Given the description of an element on the screen output the (x, y) to click on. 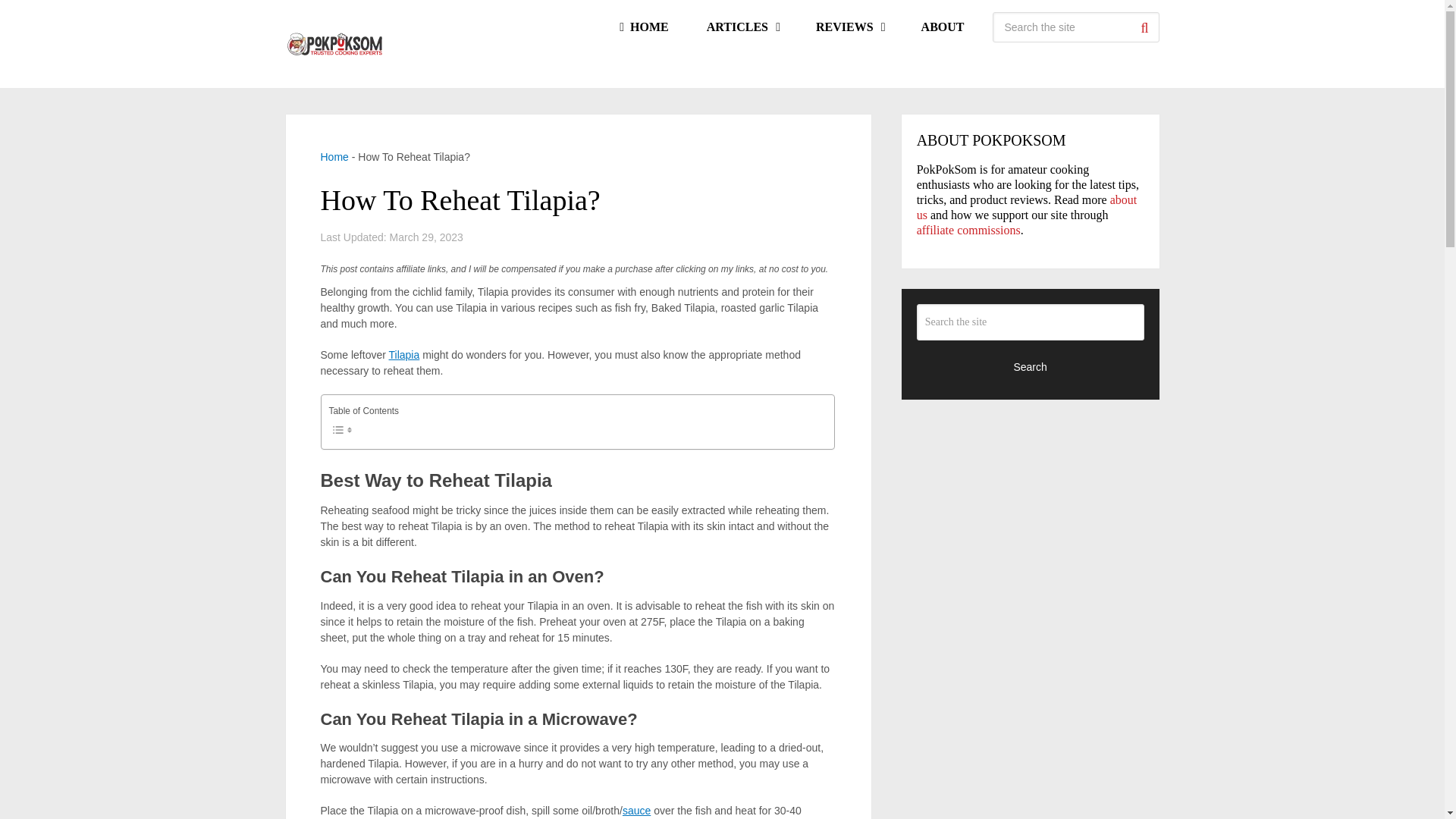
Search (1143, 27)
HOME (643, 27)
REVIEWS (849, 27)
ARTICLES (741, 27)
ABOUT (943, 27)
